Given the description of an element on the screen output the (x, y) to click on. 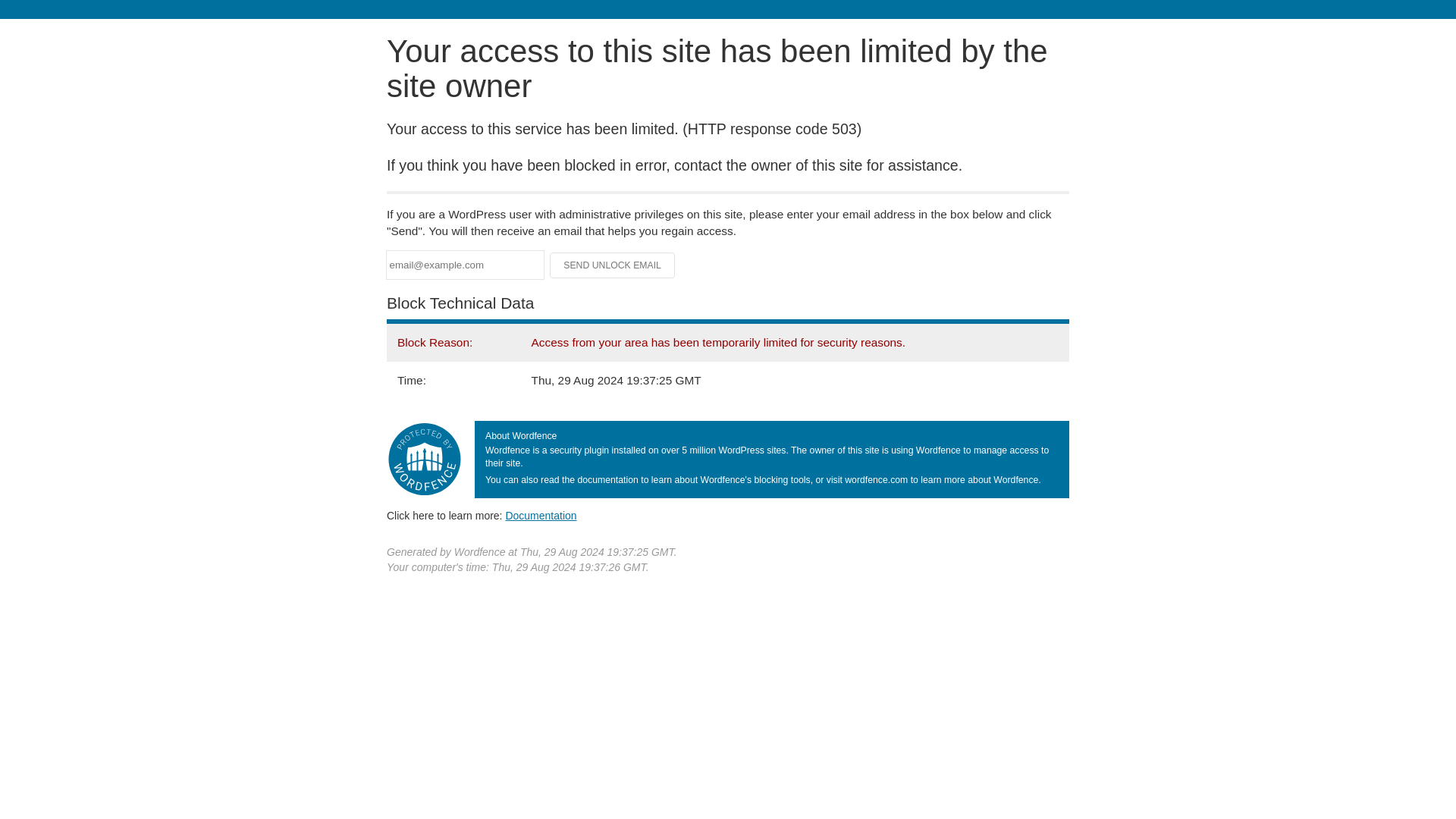
Documentation (540, 515)
Send Unlock Email (612, 265)
Send Unlock Email (612, 265)
